Given the description of an element on the screen output the (x, y) to click on. 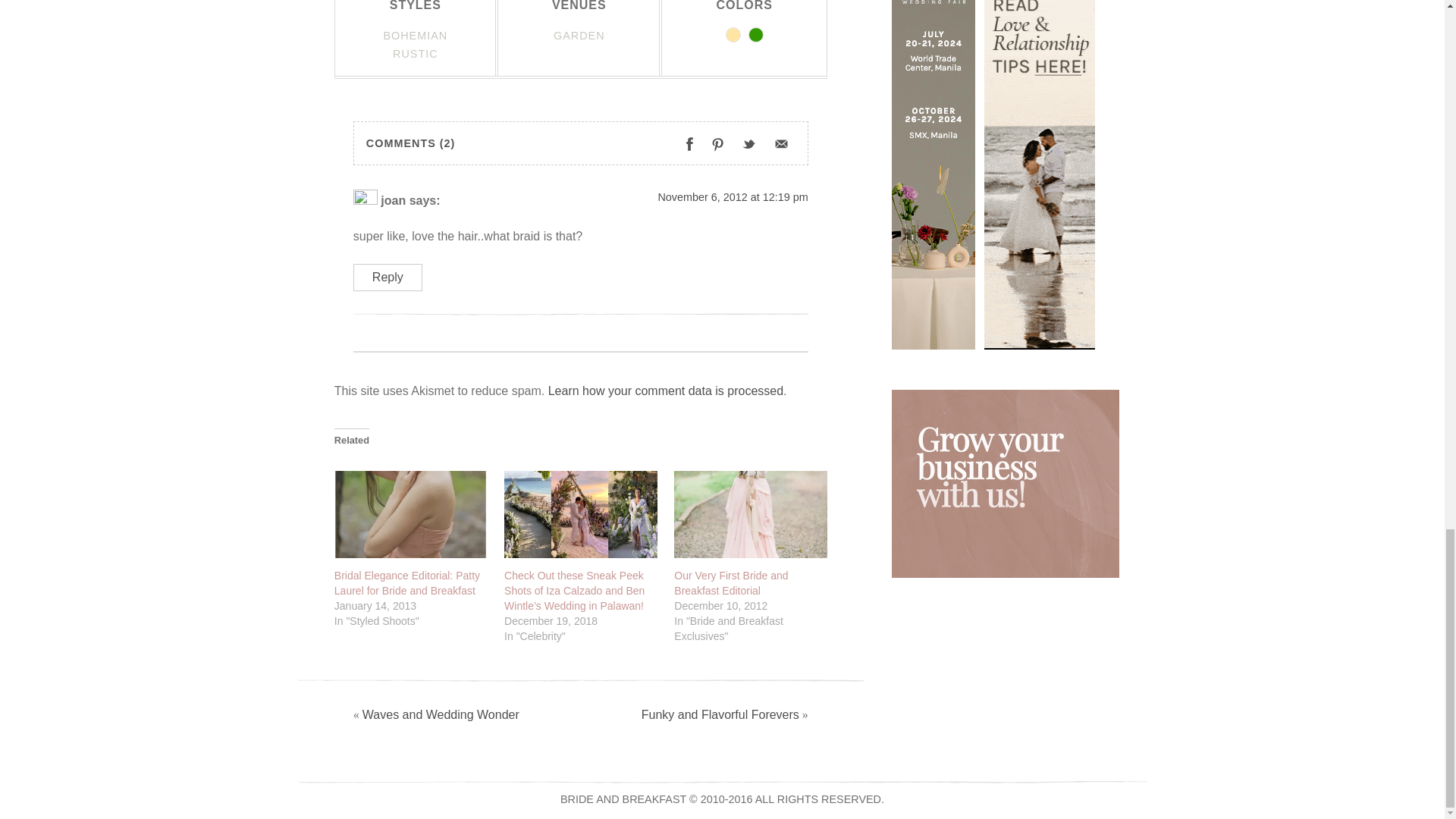
Our Very First Bride and Breakfast Editorial (750, 513)
Our Very First Bride and Breakfast Editorial (730, 583)
